Given the description of an element on the screen output the (x, y) to click on. 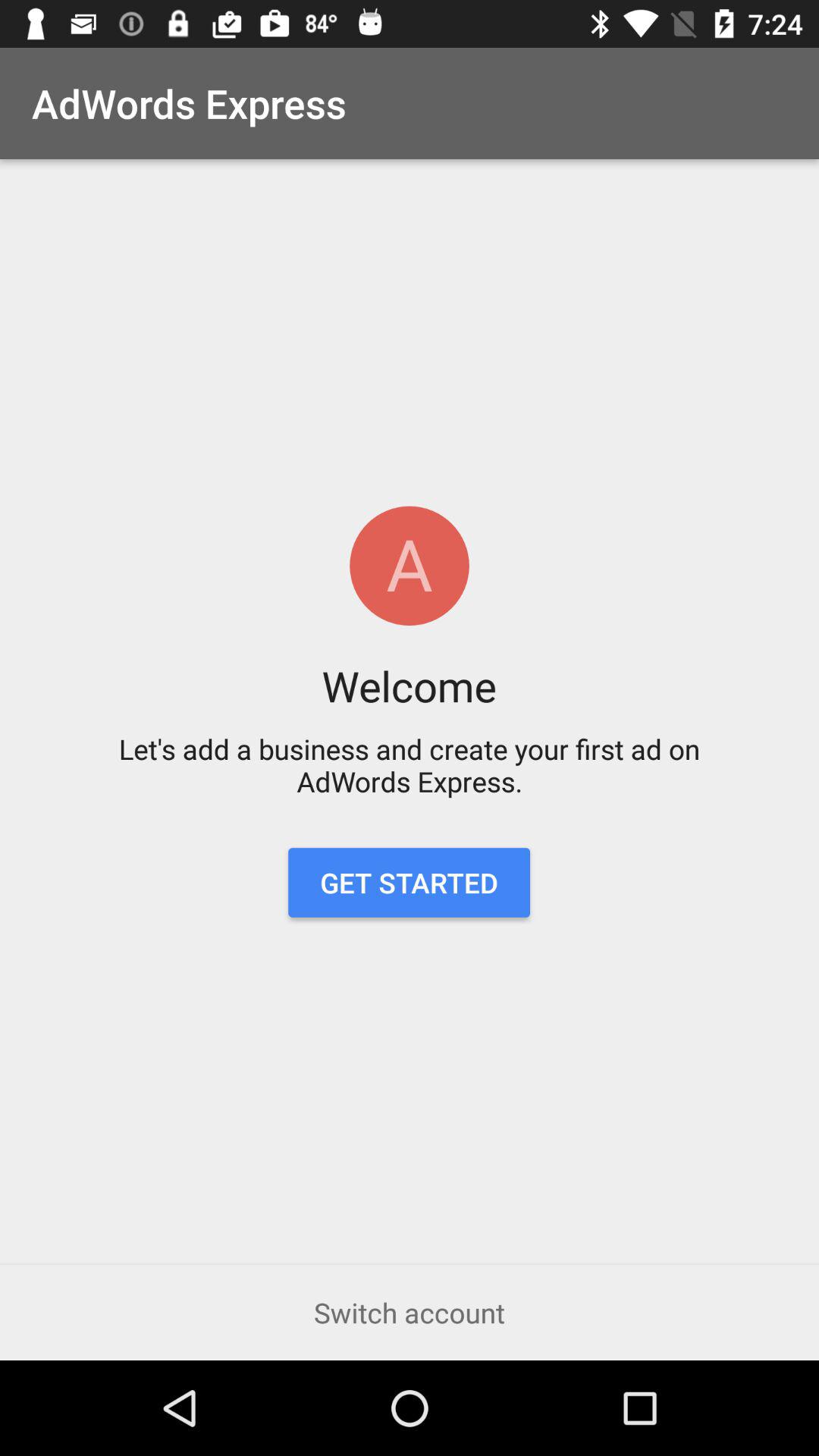
press the switch account icon (409, 1312)
